Given the description of an element on the screen output the (x, y) to click on. 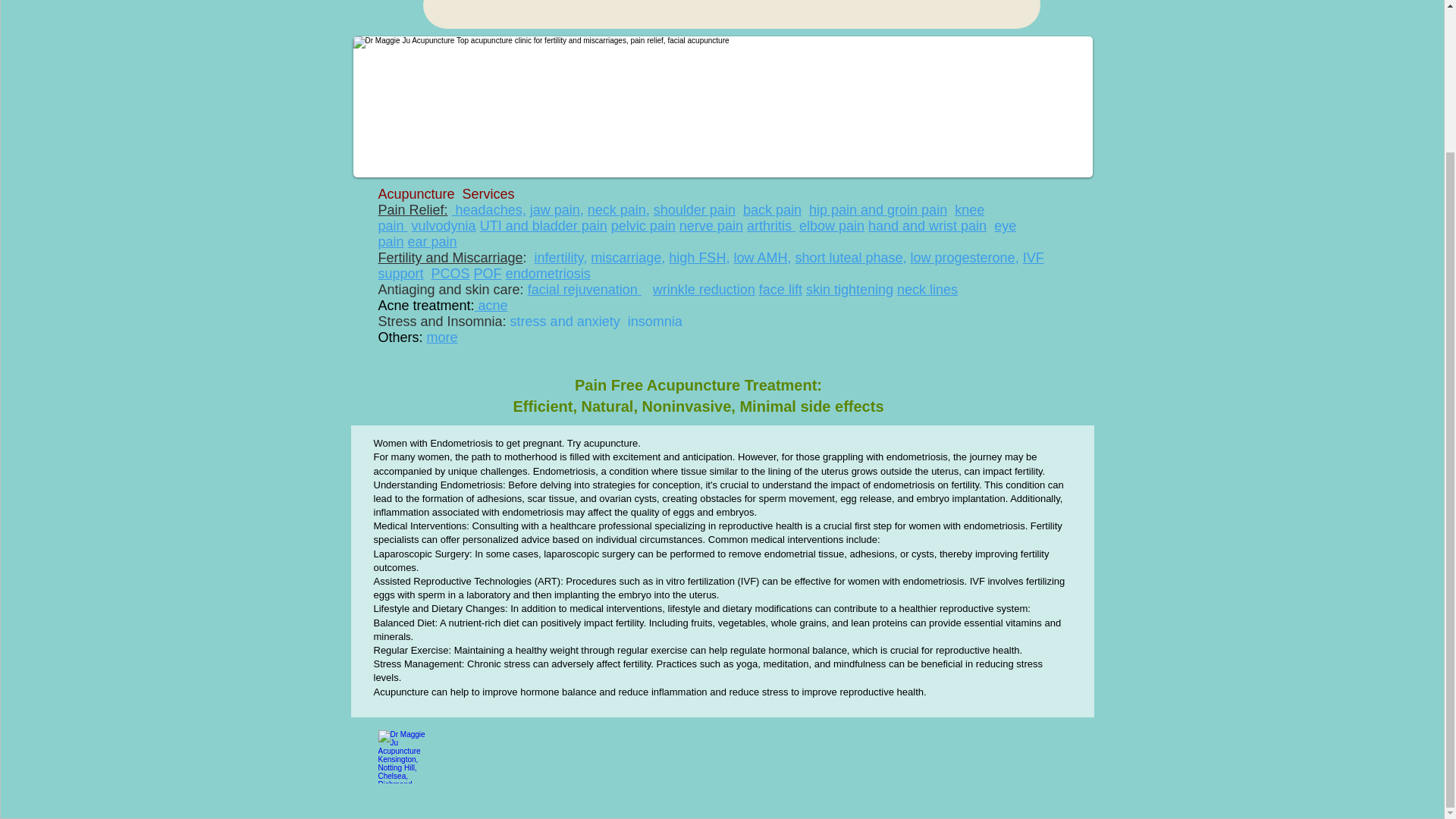
Pain Relief (516, 14)
Fertility and Miscarriage (626, 14)
images.jpg (403, 756)
Home (450, 14)
